Given the description of an element on the screen output the (x, y) to click on. 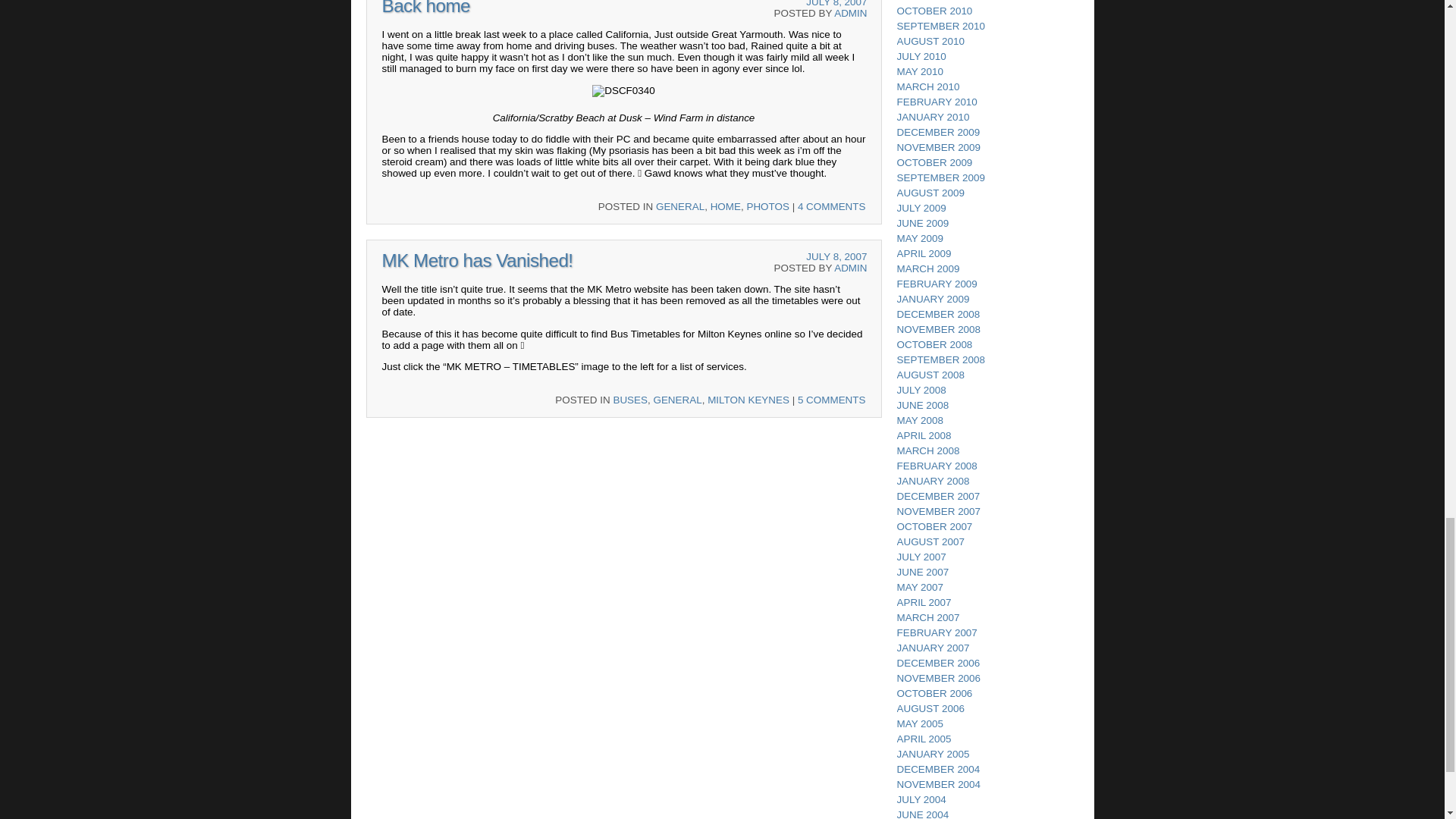
Permalink to Back home (425, 7)
MILTON KEYNES (748, 399)
HOME (725, 206)
Permalink to MK Metro has Vanished! (477, 260)
Back home (425, 7)
GENERAL (676, 399)
PHOTOS (767, 206)
View all posts by admin (850, 267)
BUSES (629, 399)
4 COMMENTS (831, 206)
JULY 8, 2007 (836, 3)
ADMIN (850, 267)
JULY 8, 2007 (836, 256)
MK Metro has Vanished! (477, 260)
ADMIN (850, 12)
